Given the description of an element on the screen output the (x, y) to click on. 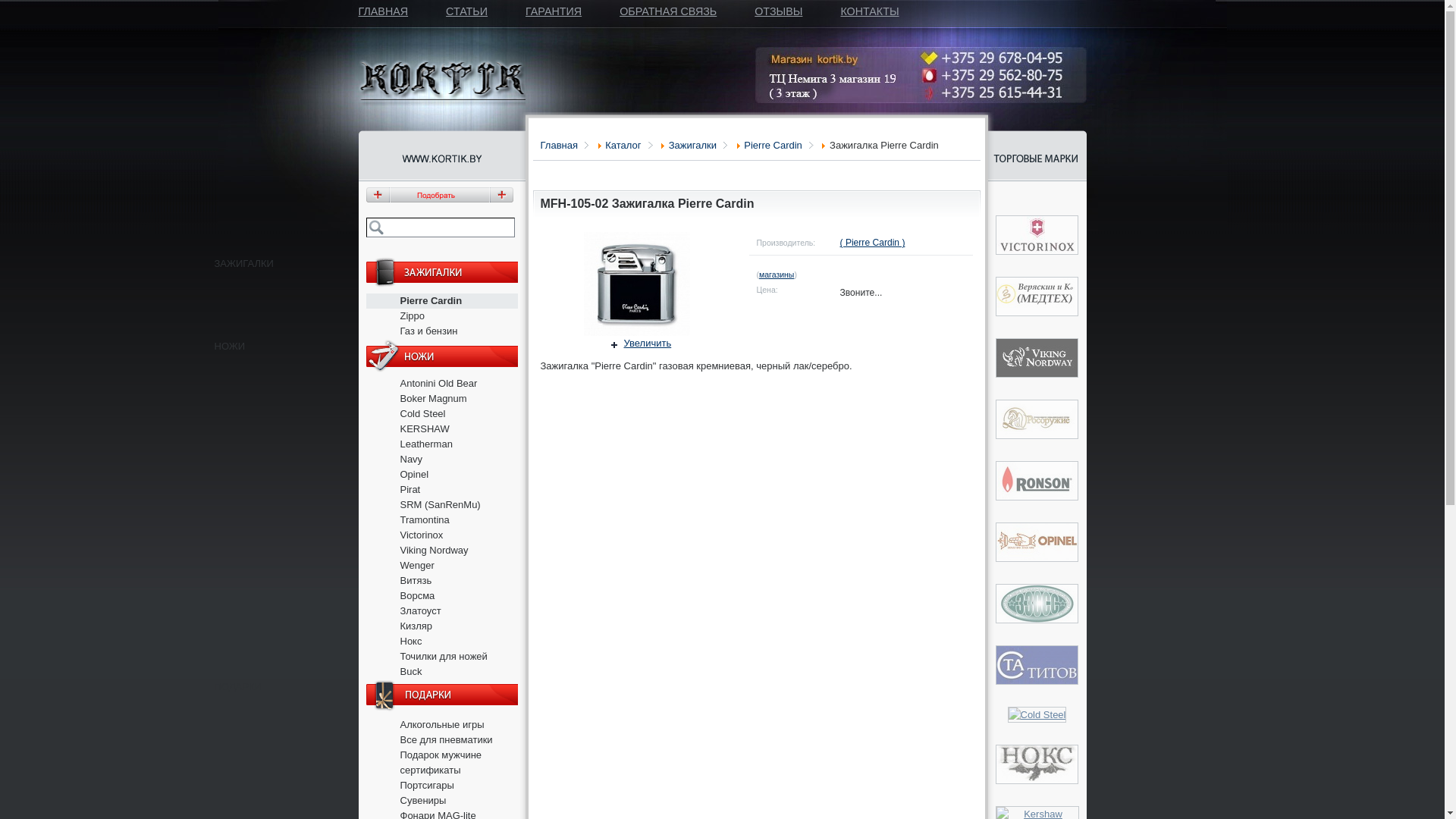
Victorinox Element type: text (421, 534)
SRM (SanRenMu) Element type: text (440, 504)
Opinel Element type: text (414, 474)
Pirat Element type: text (410, 489)
Navy Element type: text (411, 458)
Wenger Element type: text (417, 565)
Cold Steel Element type: text (422, 413)
Boker Magnum Element type: text (433, 398)
Buck Element type: text (411, 671)
Pierre Cardin Element type: text (778, 144)
Zippo Element type: text (412, 315)
http://www.kortik.by/ Element type: text (441, 158)
Viking Nordway Element type: text (434, 549)
KERSHAW Element type: text (424, 428)
keyworld Element type: hover (439, 227)
Leatherman Element type: text (426, 443)
( Pierre Cardin ) Element type: text (872, 242)
Pierre Cardin Element type: text (431, 300)
Tramontina Element type: text (424, 519)
Antonini Old Bear Element type: text (438, 383)
